Given the description of an element on the screen output the (x, y) to click on. 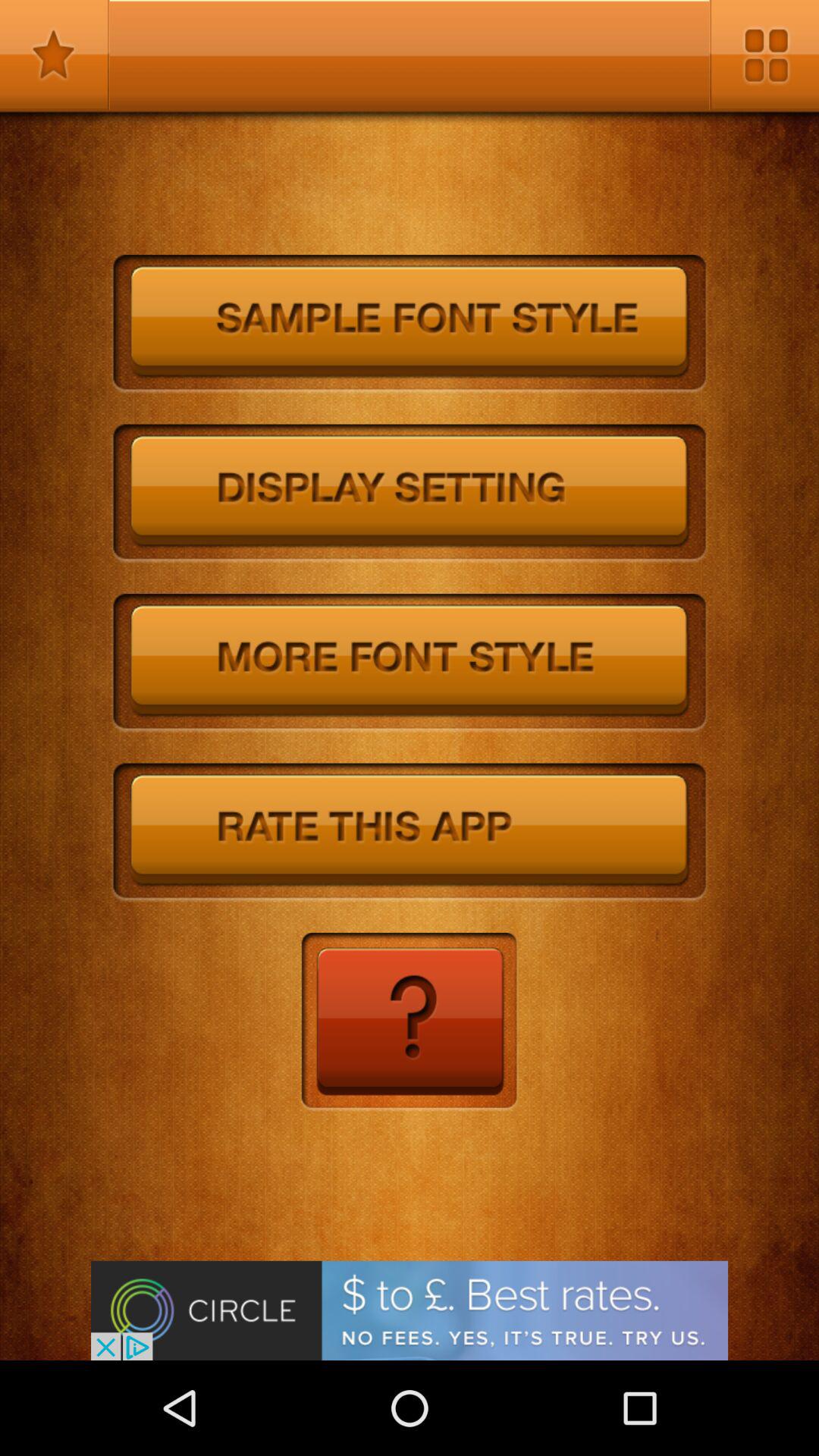
rating button (409, 832)
